Given the description of an element on the screen output the (x, y) to click on. 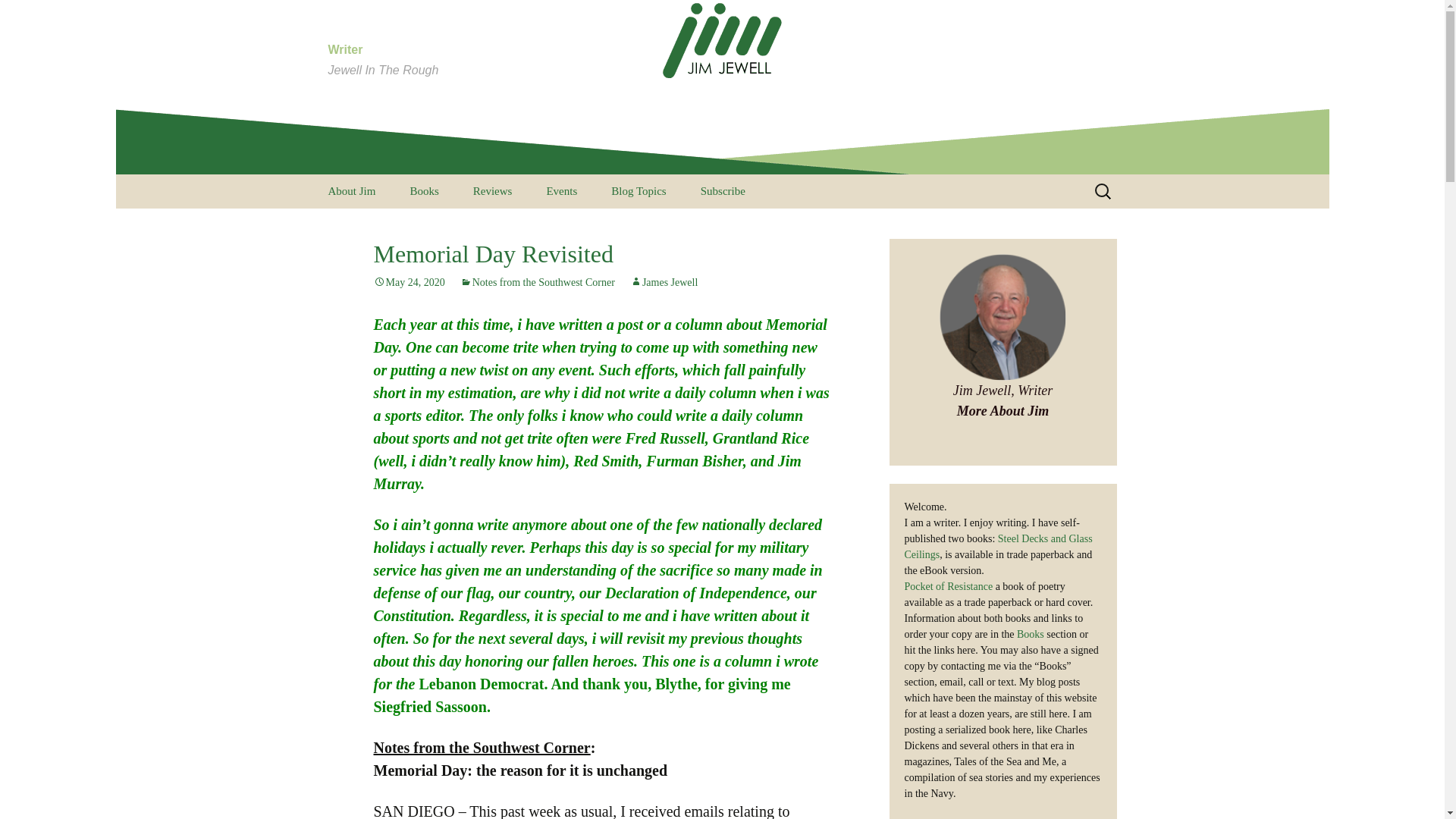
Permalink to Memorial Day Revisited (408, 282)
Blog Topics (638, 191)
Steel Decks and Glass Ceilings (470, 230)
About Jim (351, 191)
Subscribe (722, 191)
Reviews (492, 191)
Notes from the Southwest Corner (537, 282)
A Pocket of Resistance (671, 225)
Steel Decks and Glass Ceilings (998, 546)
Events (561, 191)
